Given the description of an element on the screen output the (x, y) to click on. 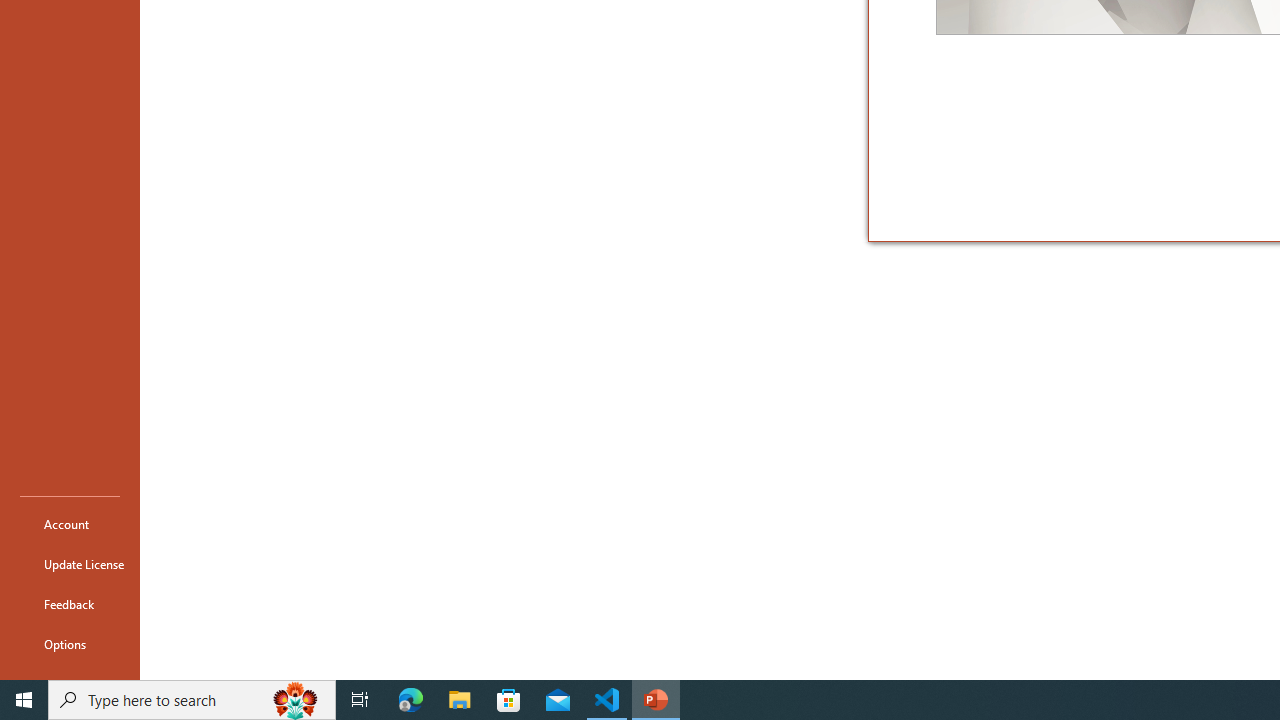
Account (69, 523)
Microsoft Edge (411, 699)
Feedback (69, 603)
Options (69, 643)
Update License (69, 563)
